Given the description of an element on the screen output the (x, y) to click on. 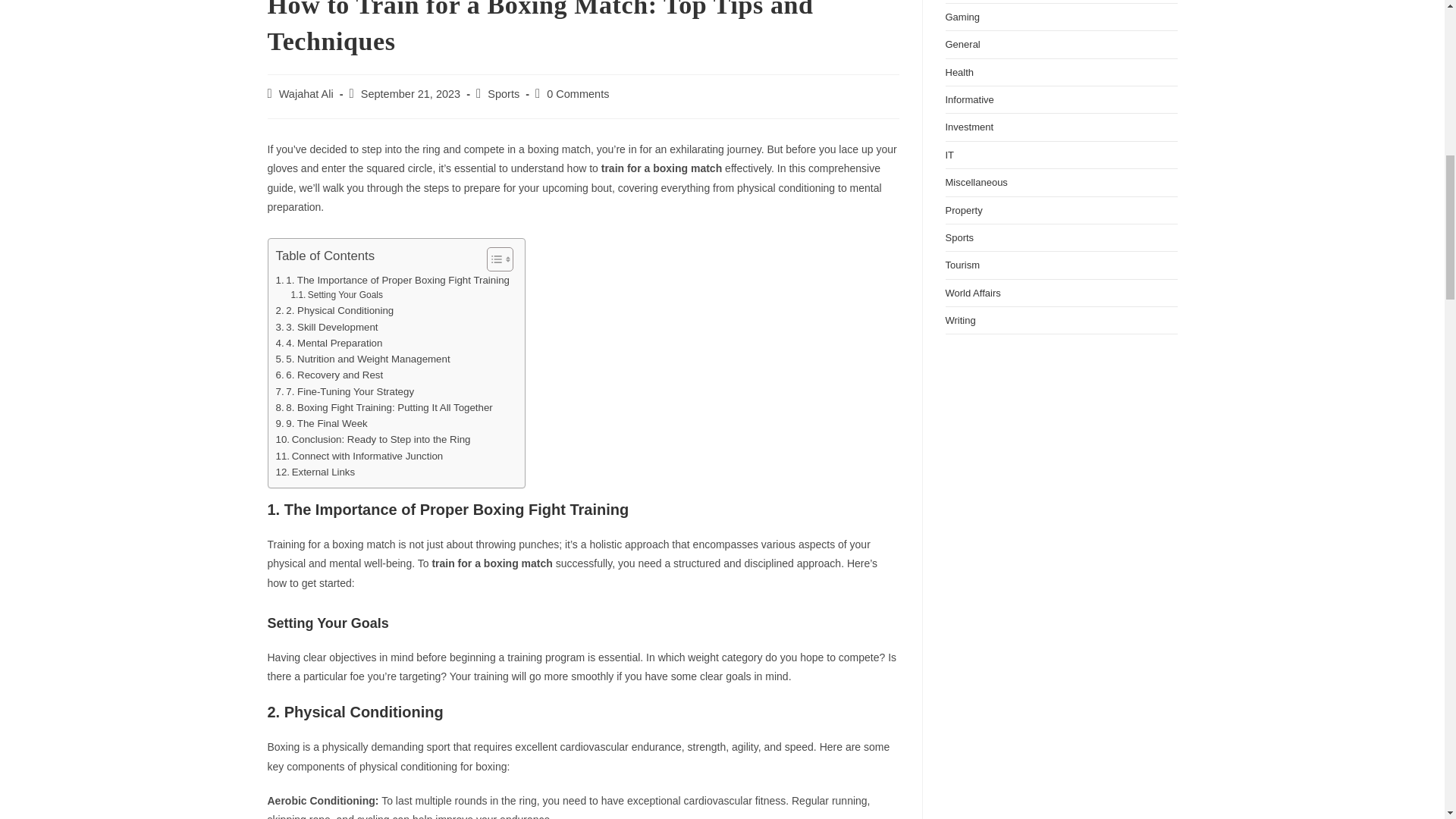
5. Nutrition and Weight Management (362, 358)
Posts by Wajahat Ali (306, 93)
8. Boxing Fight Training: Putting It All Together (384, 407)
1. The Importance of Proper Boxing Fight Training (392, 279)
2. Physical Conditioning (335, 310)
7. Fine-Tuning Your Strategy (345, 391)
Conclusion: Ready to Step into the Ring (373, 439)
6. Recovery and Rest (330, 374)
Connect with Informative Junction (360, 455)
9. The Final Week (322, 423)
